Given the description of an element on the screen output the (x, y) to click on. 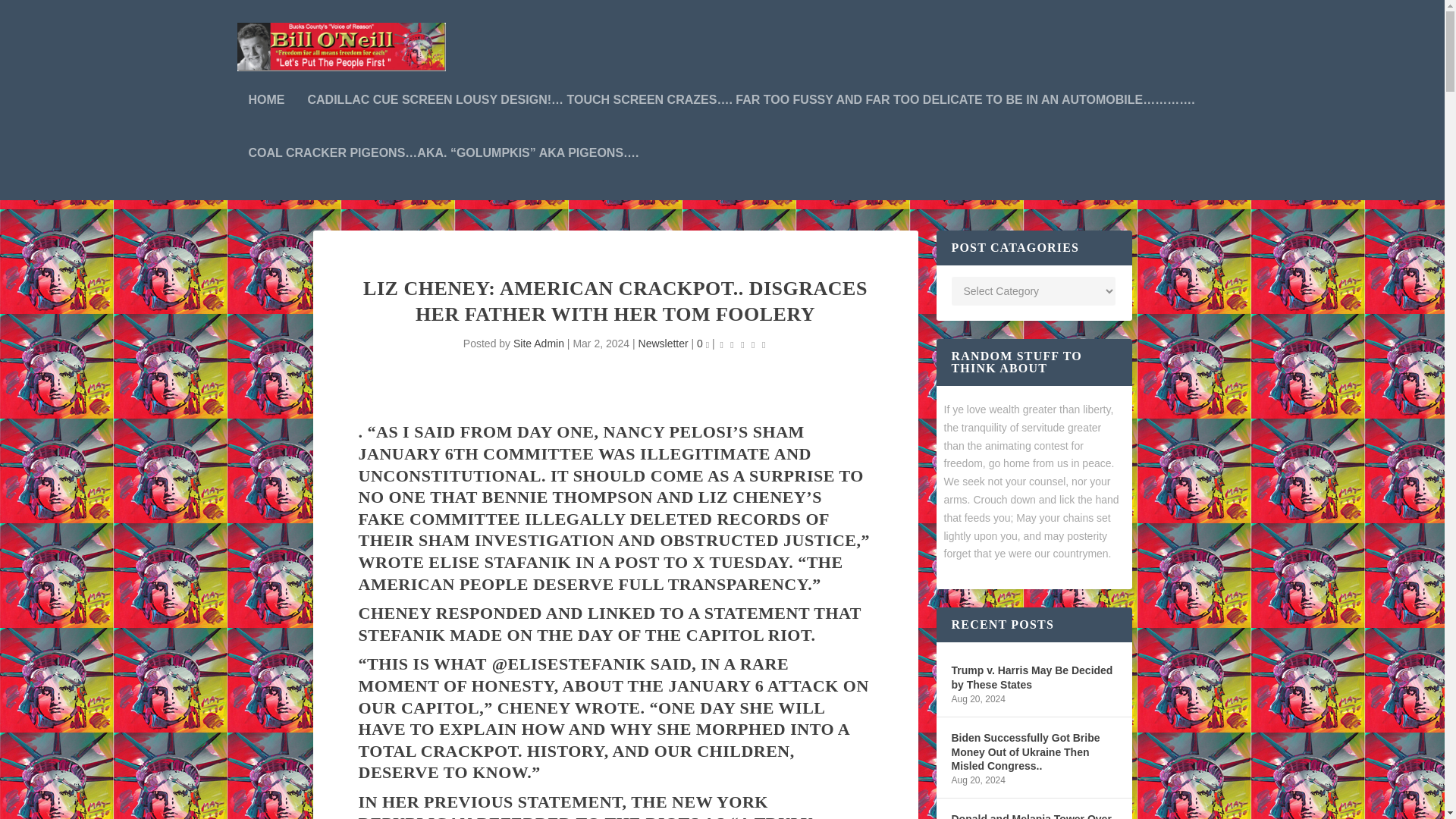
Rating: 0.00 (742, 343)
Posts by Site Admin (538, 343)
Donald and Melania Tower Over Queen (1033, 814)
Trump v. Harris May Be Decided by These States (1033, 676)
Site Admin (538, 343)
Newsletter (663, 343)
0 (703, 343)
